Given the description of an element on the screen output the (x, y) to click on. 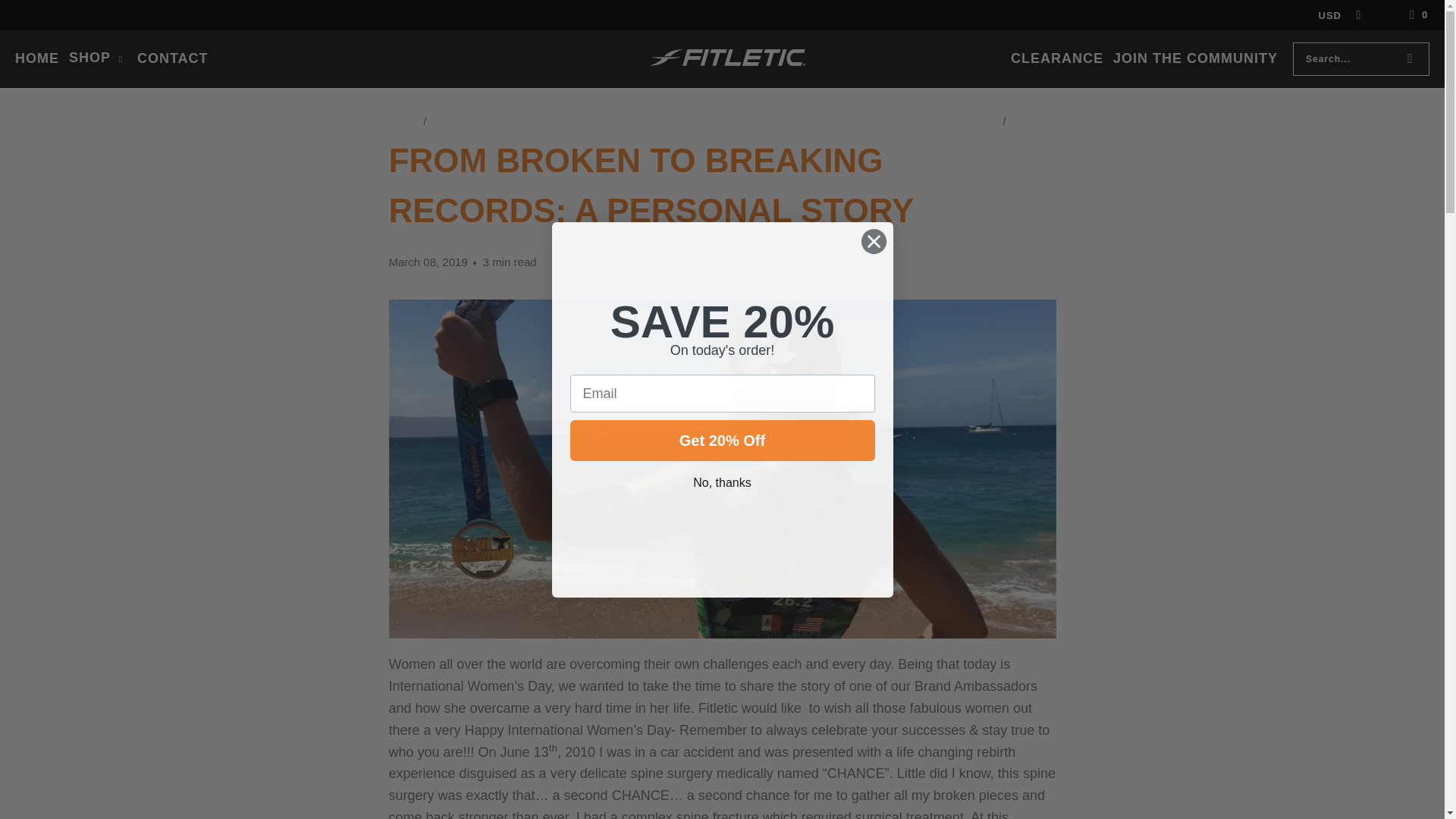
Fitletic (727, 58)
Fitletic (404, 121)
Blog (447, 121)
